Given the description of an element on the screen output the (x, y) to click on. 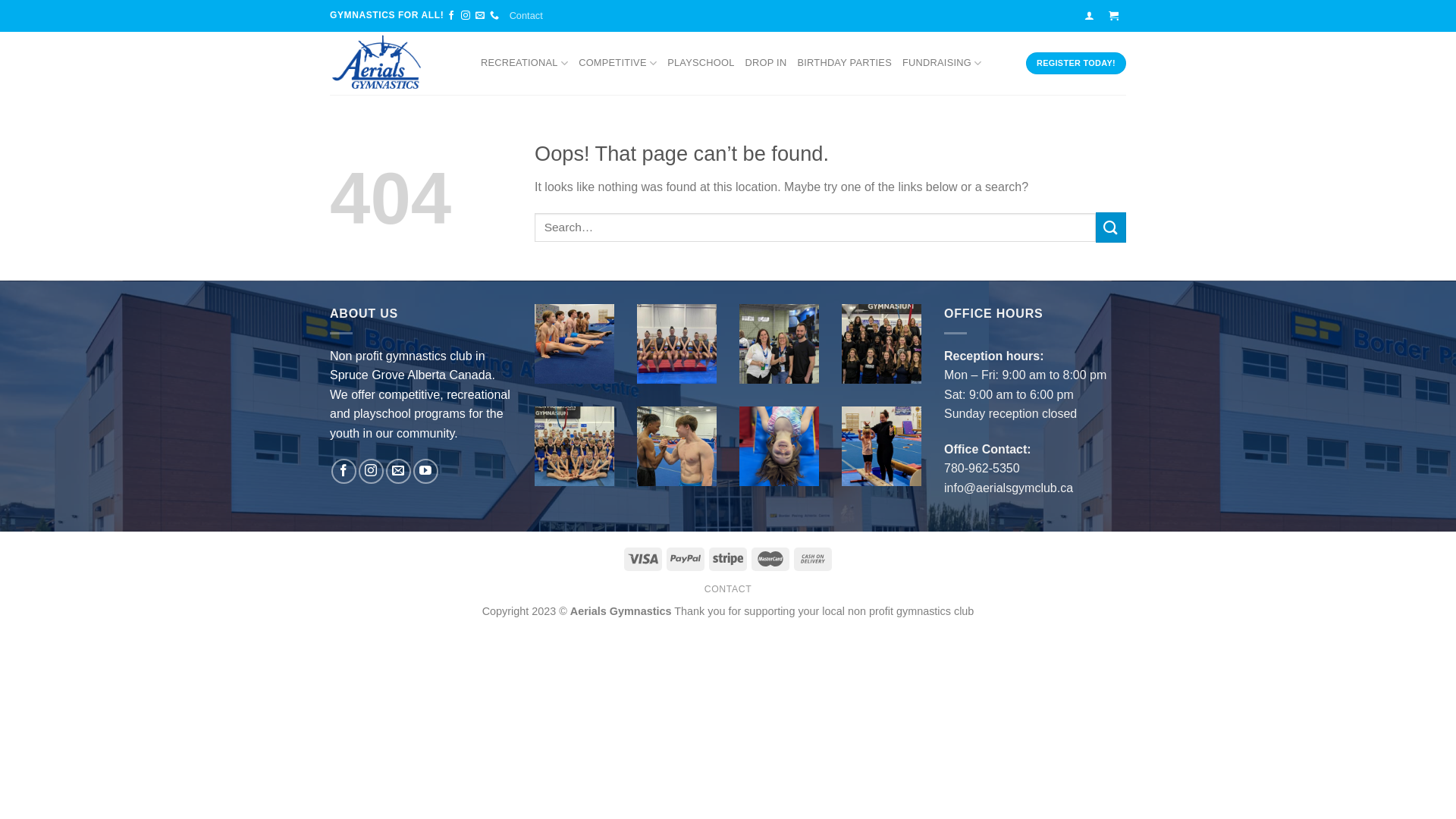
Send us an email Element type: hover (479, 15)
CONTACT Element type: text (728, 588)
Cart Element type: hover (1113, 15)
Follow on YouTube Element type: hover (425, 470)
Aerials Gymnastics - Gymnastics For All! Element type: hover (393, 62)
PLAYSCHOOL Element type: text (700, 62)
Call us Element type: hover (493, 15)
COMPETITIVE Element type: text (617, 62)
DROP IN Element type: text (766, 62)
REGISTER TODAY! Element type: text (1076, 62)
Contact Element type: text (525, 15)
Follow on Instagram Element type: hover (370, 470)
Send us an email Element type: hover (398, 470)
RECREATIONAL Element type: text (523, 62)
BIRTHDAY PARTIES Element type: text (844, 62)
Follow on Instagram Element type: hover (465, 15)
Follow on Facebook Element type: hover (343, 470)
FUNDRAISING Element type: text (941, 62)
Follow on Facebook Element type: hover (450, 15)
